Given the description of an element on the screen output the (x, y) to click on. 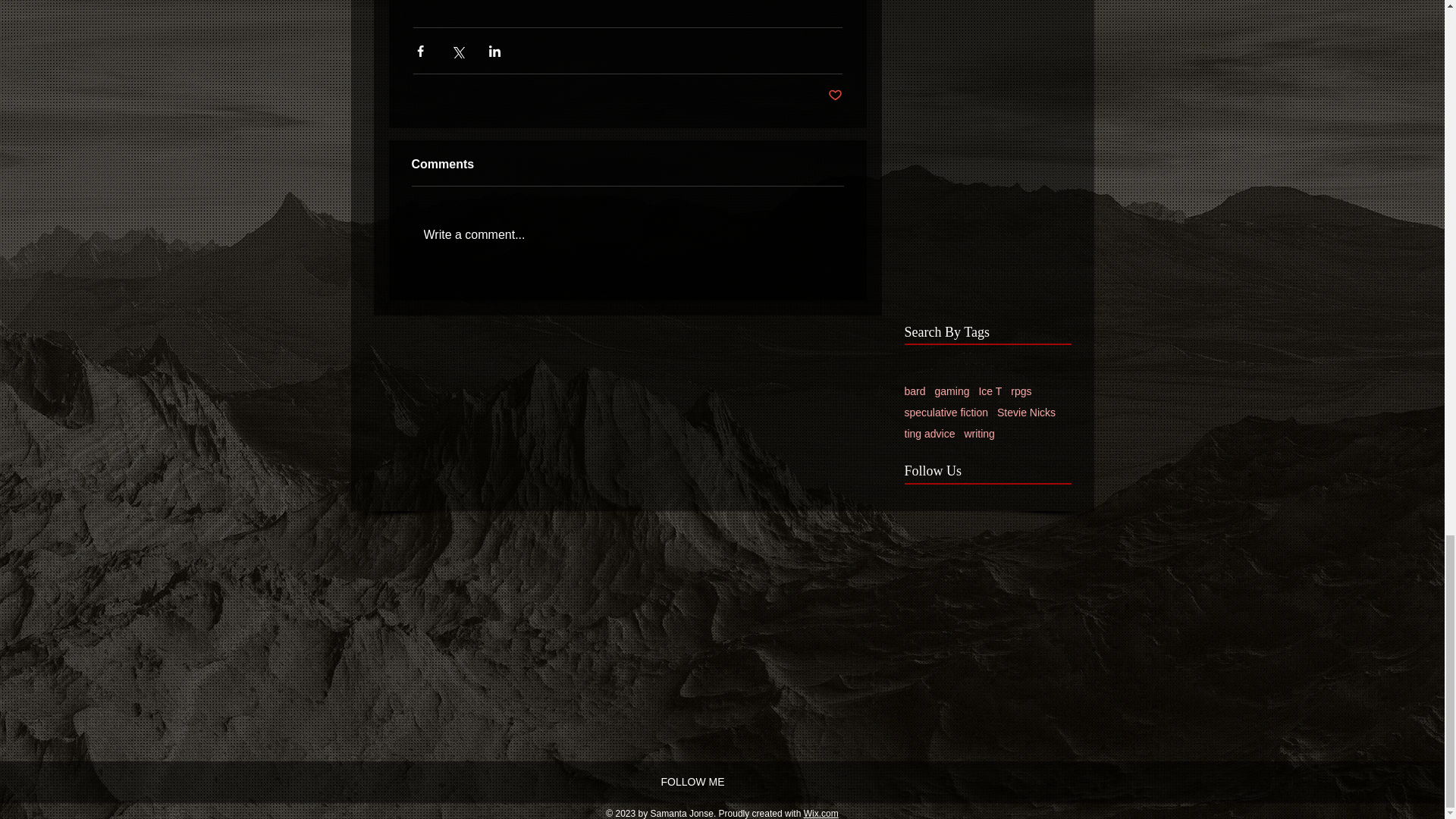
bard (914, 390)
ting advice (929, 433)
Stevie Nicks (1026, 412)
rpgs (1020, 390)
Ice T (989, 390)
gaming (951, 390)
writing (978, 433)
speculative fiction (946, 412)
Write a comment... (626, 234)
Post not marked as liked (835, 95)
